Given the description of an element on the screen output the (x, y) to click on. 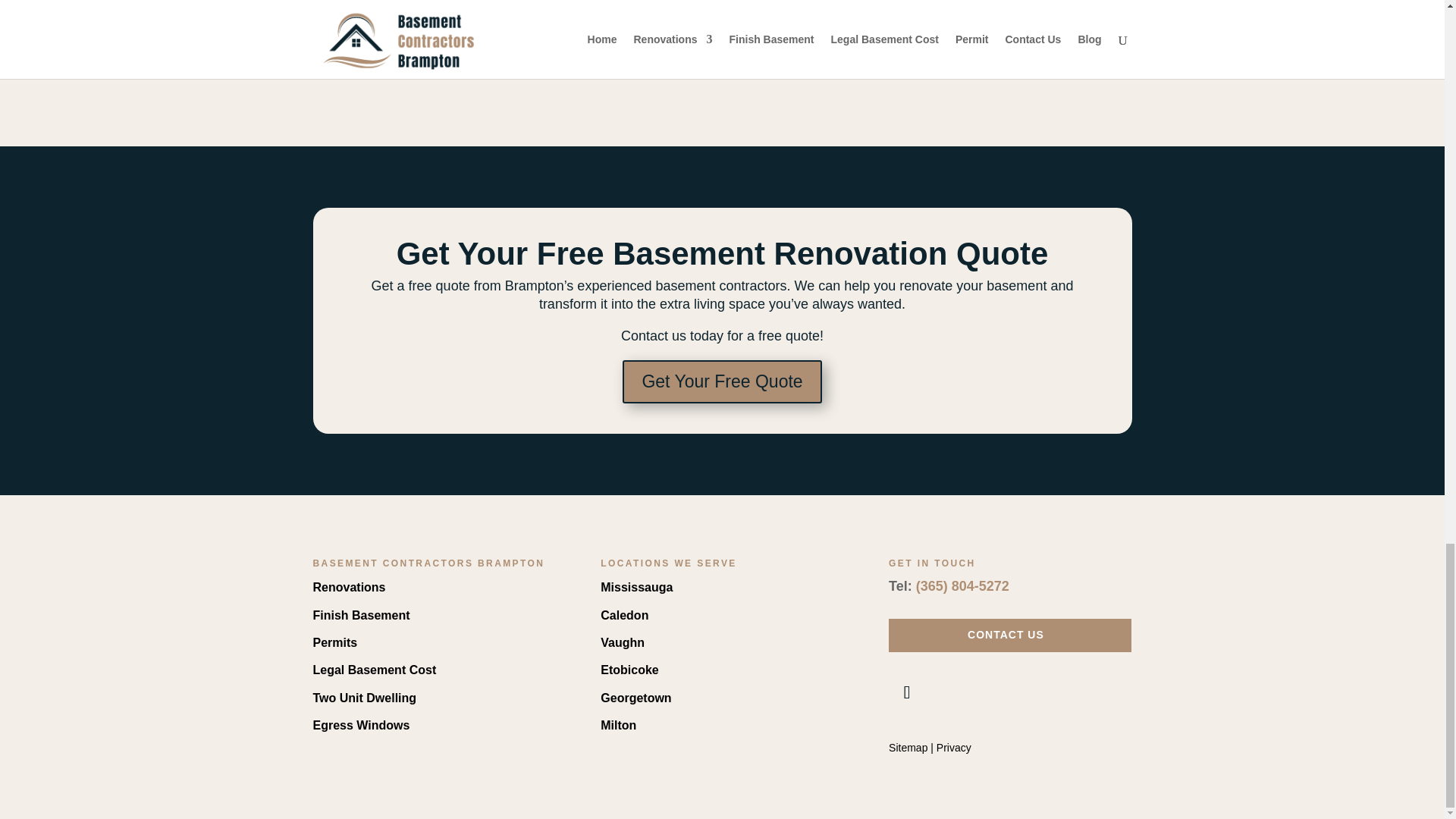
Caledon (623, 615)
Georgetown (635, 697)
Get Your Free Quote (722, 381)
Finish Basement (361, 615)
Mississauga (635, 586)
Legal Basement Cost (374, 669)
Two Unit Dwelling (364, 697)
Follow on Facebook (906, 692)
Renovations (349, 586)
Egress Windows (361, 725)
Vaughn (622, 642)
Etobicoke (628, 669)
Permits (334, 642)
